Given the description of an element on the screen output the (x, y) to click on. 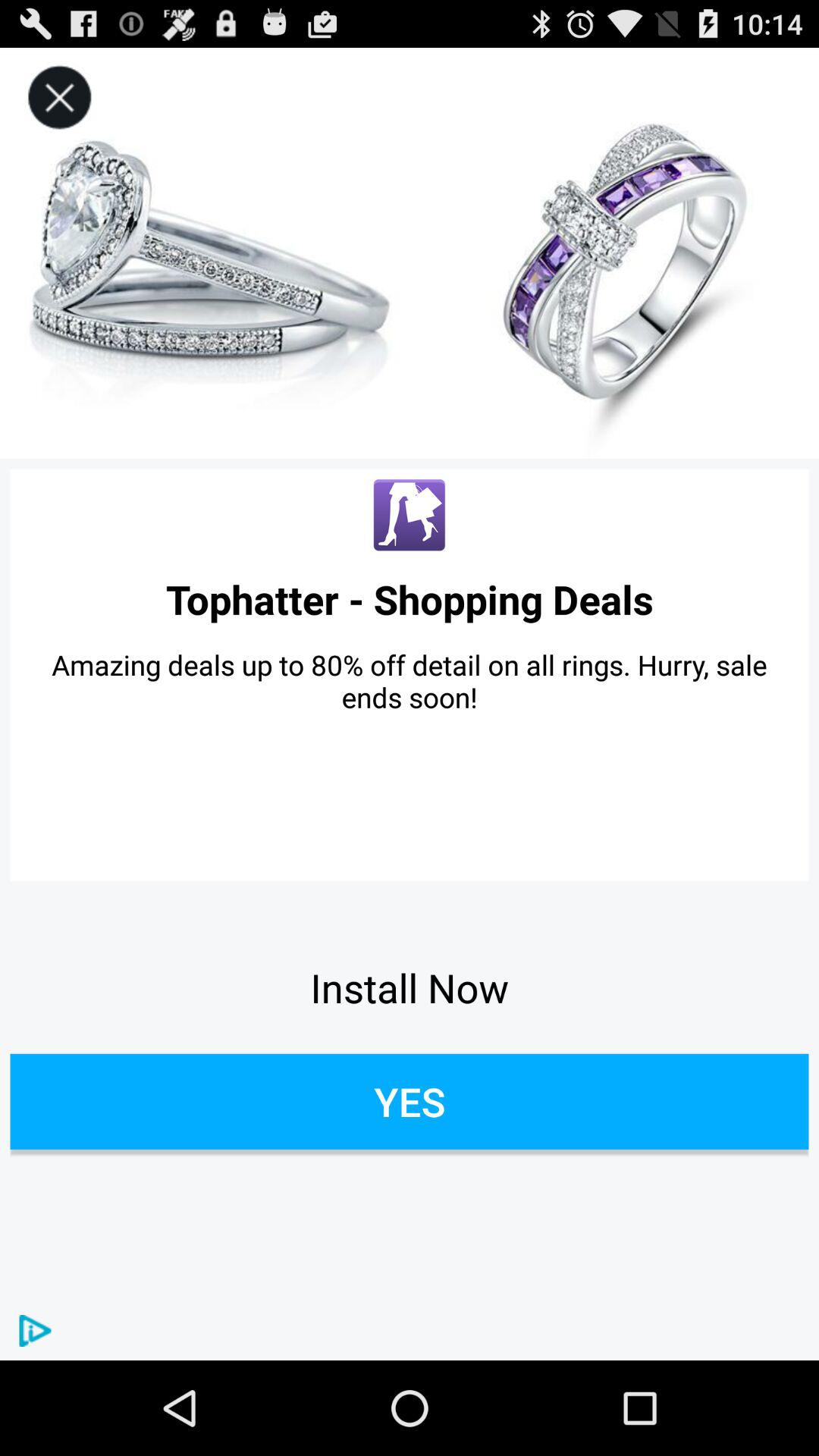
swipe until amazing deals up icon (409, 680)
